Given the description of an element on the screen output the (x, y) to click on. 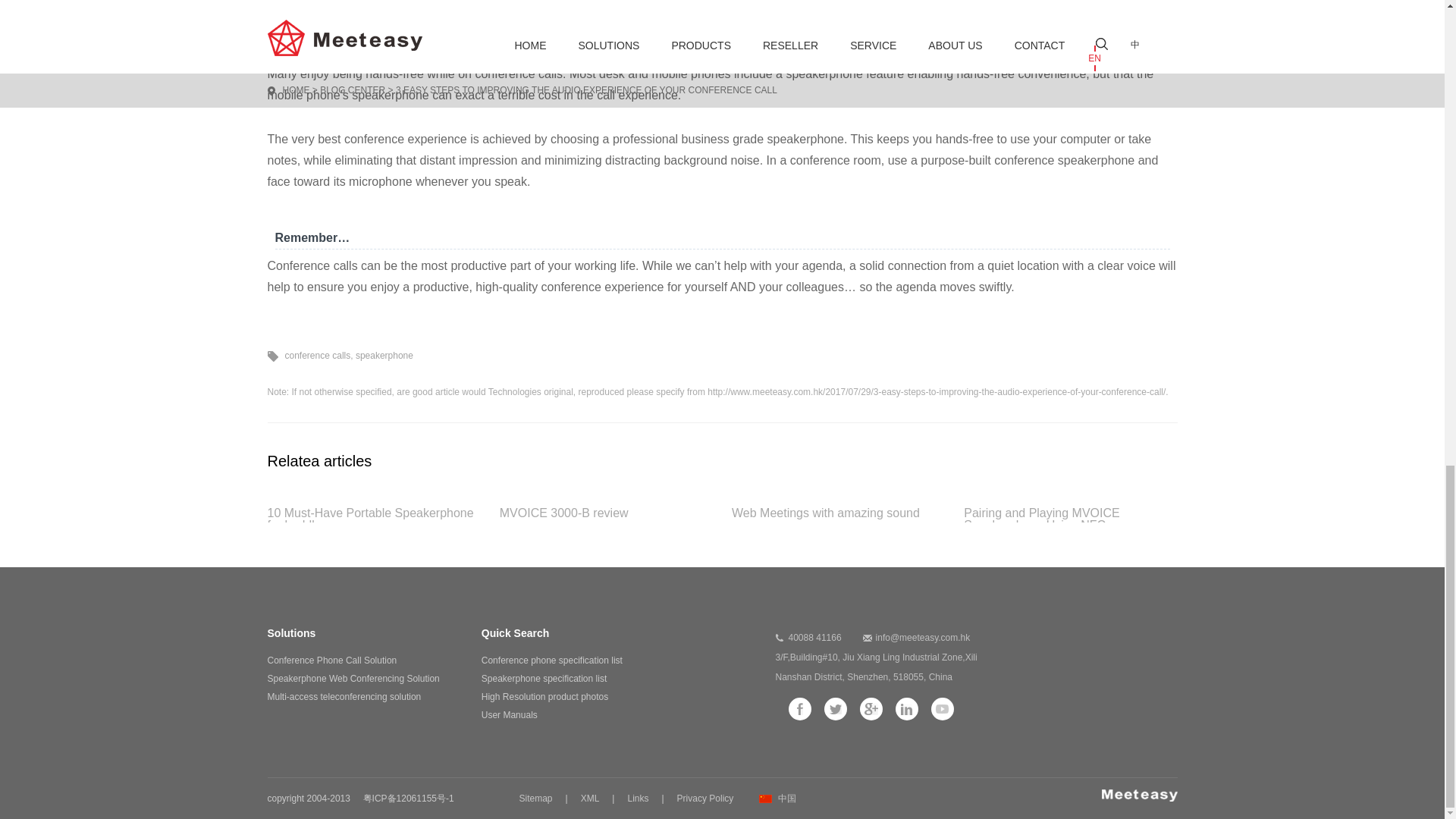
10 Must-Have Portable Speakerphone for huddle rooms (373, 514)
Conference Phone Call Solution (331, 660)
conference calls (317, 355)
MVOICE 3000-B review (606, 514)
Web Meetings with amazing sound (838, 514)
Pairing and Playing MVOICE Speakerphone Using NFC (1069, 514)
speakerphone (384, 355)
